Given the description of an element on the screen output the (x, y) to click on. 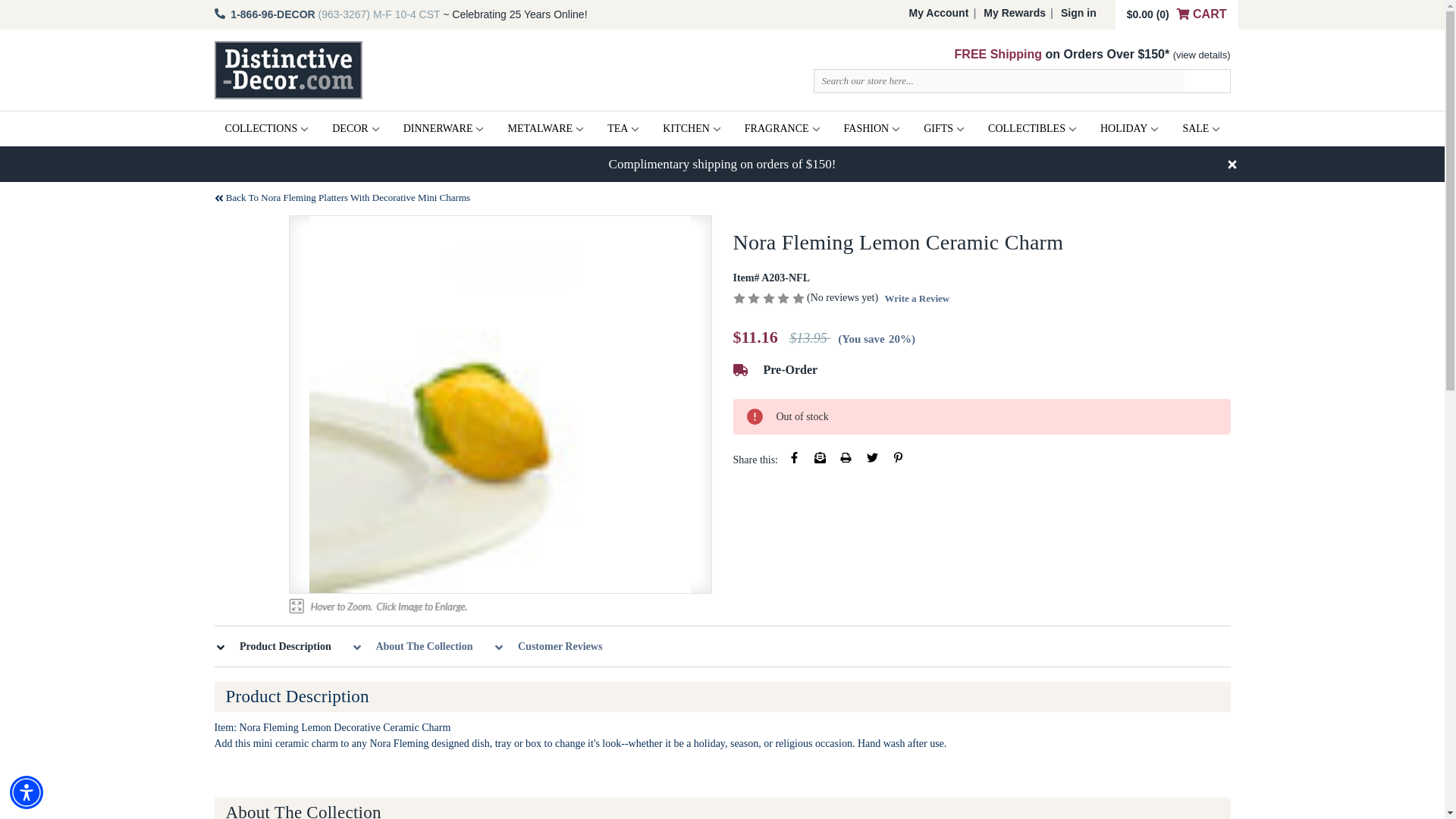
DECOR (355, 128)
FRAGRANCE (781, 128)
METALWARE (545, 128)
KITCHEN (691, 128)
GIFTS (943, 128)
HOLIDAY (1128, 128)
DECOR (355, 128)
My Rewards (1013, 12)
HOLIDAY (1128, 128)
COLLECTIONS (266, 128)
METALWARE (545, 128)
FASHION (871, 128)
Distinctive Decor (287, 69)
TEA (622, 128)
